Given the description of an element on the screen output the (x, y) to click on. 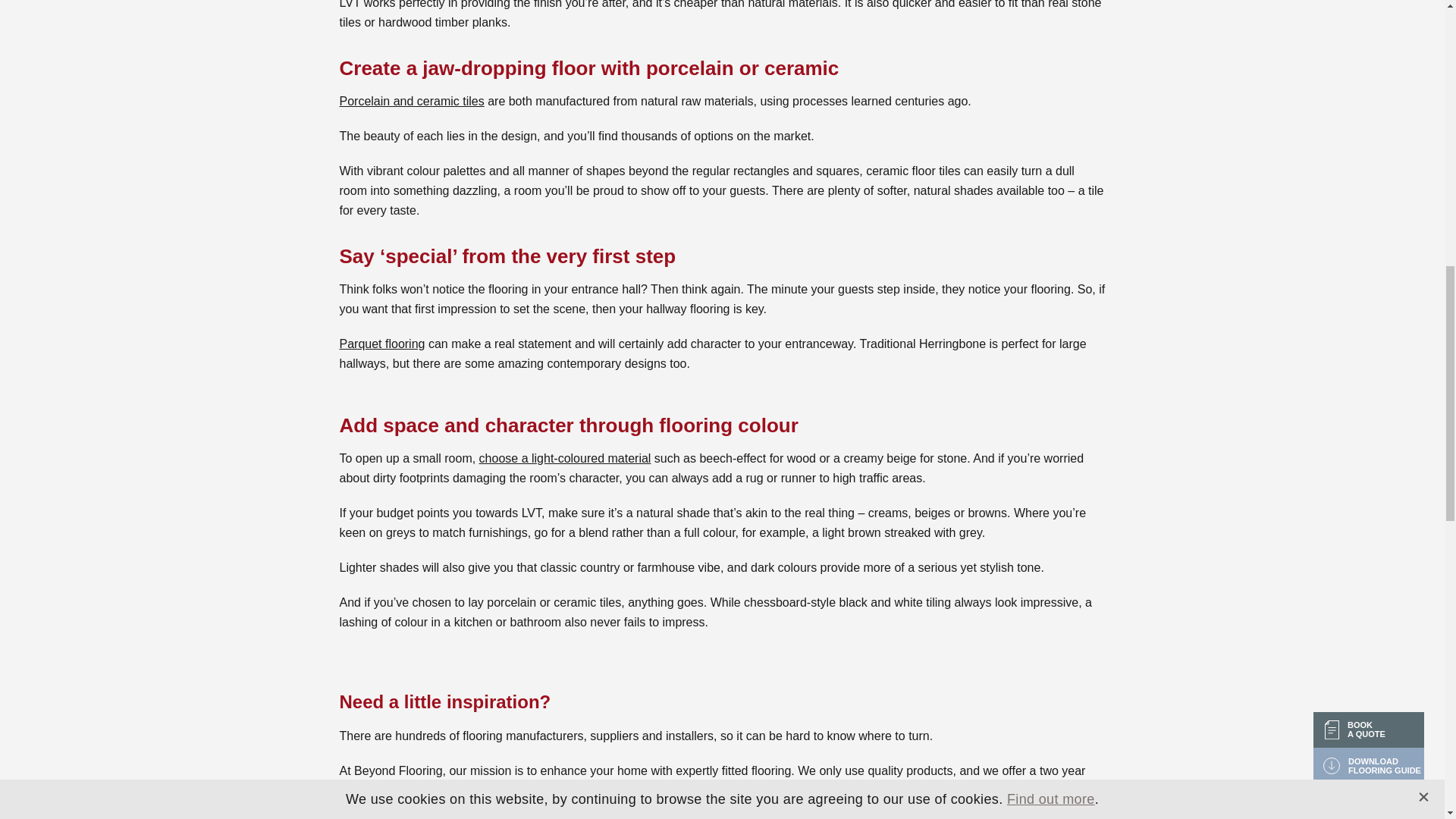
choose a light-coloured material (564, 458)
Porcelain and ceramic tiles (411, 101)
Parquet flooring (382, 343)
